Given the description of an element on the screen output the (x, y) to click on. 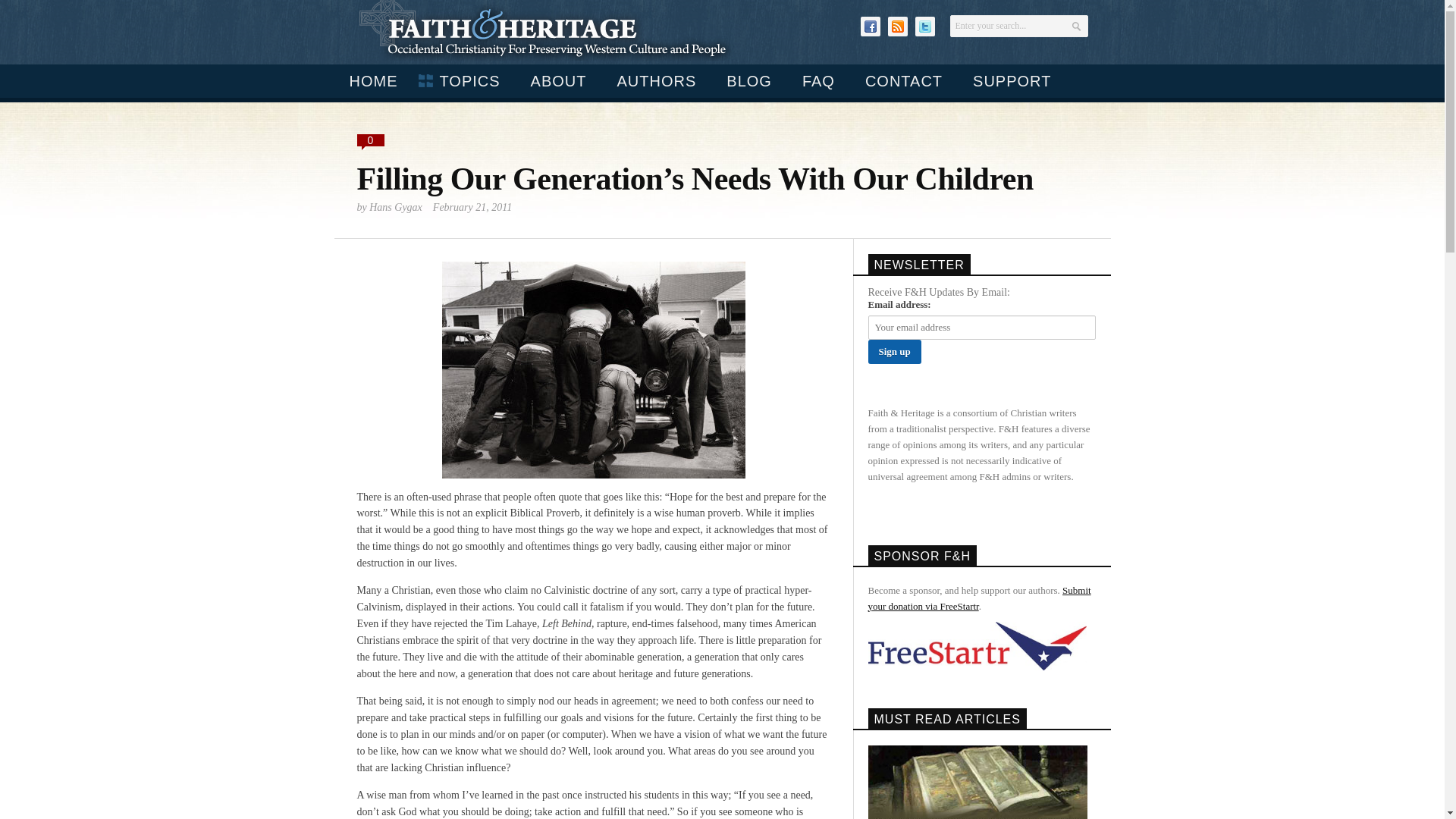
Enter your search... (1018, 25)
TOPICS (463, 80)
Posts by Hans Gygax (395, 206)
HOME (372, 80)
Sign up (893, 351)
